Given the description of an element on the screen output the (x, y) to click on. 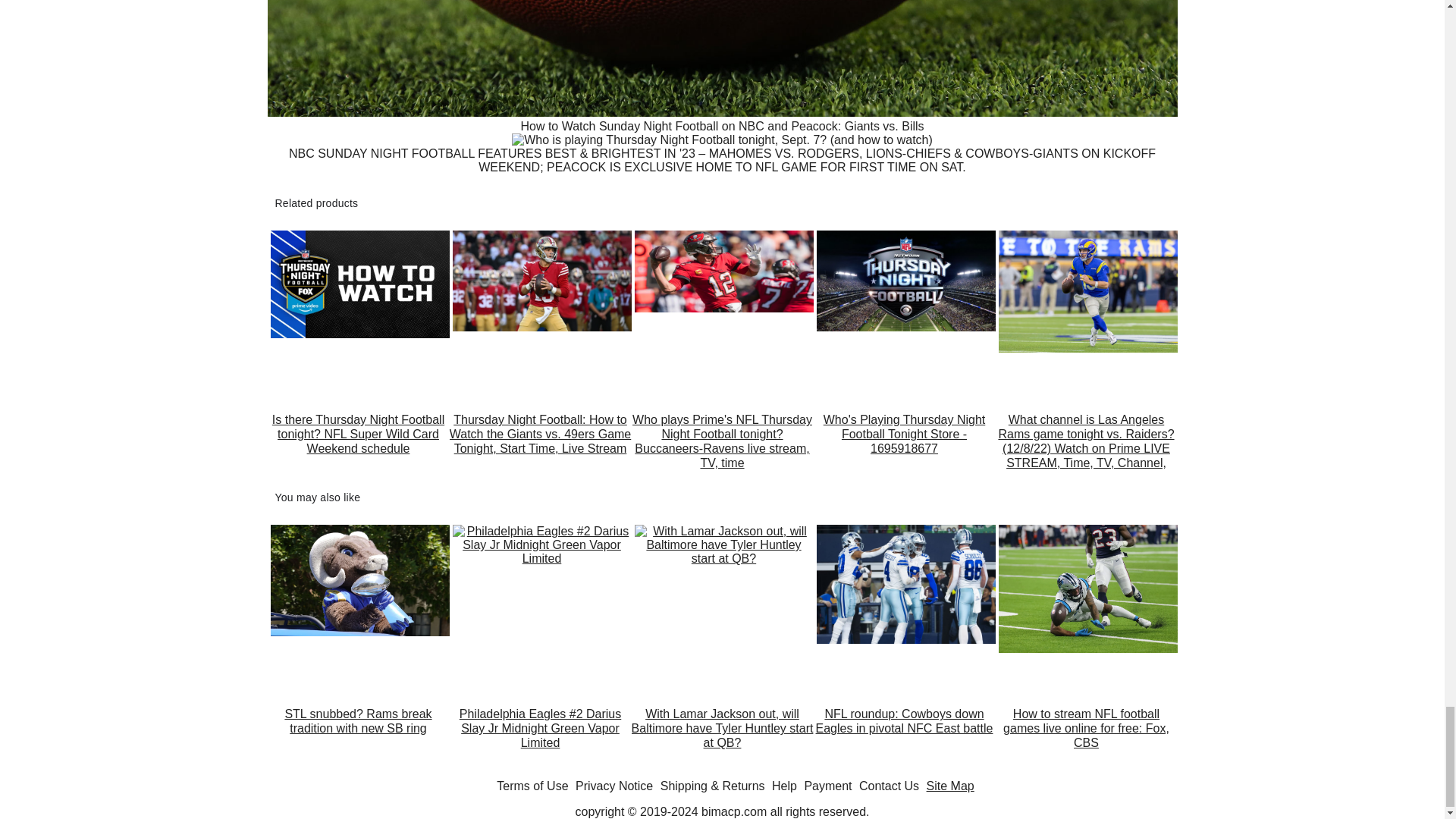
STL snubbed? Rams break tradition with new SB ring (357, 735)
Terms of Use (531, 785)
Payment (827, 785)
Help (783, 785)
Privacy Notice (613, 785)
